Given the description of an element on the screen output the (x, y) to click on. 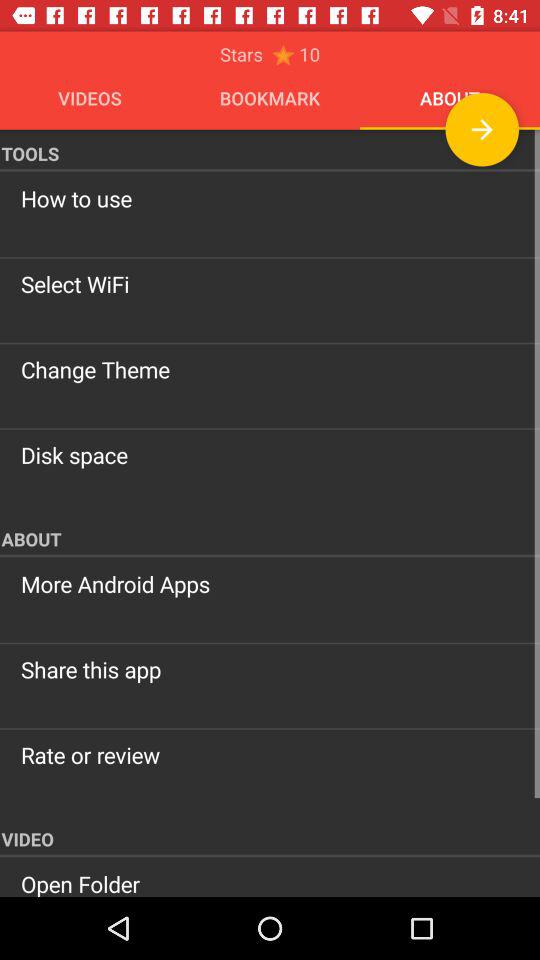
go to next (482, 129)
